Given the description of an element on the screen output the (x, y) to click on. 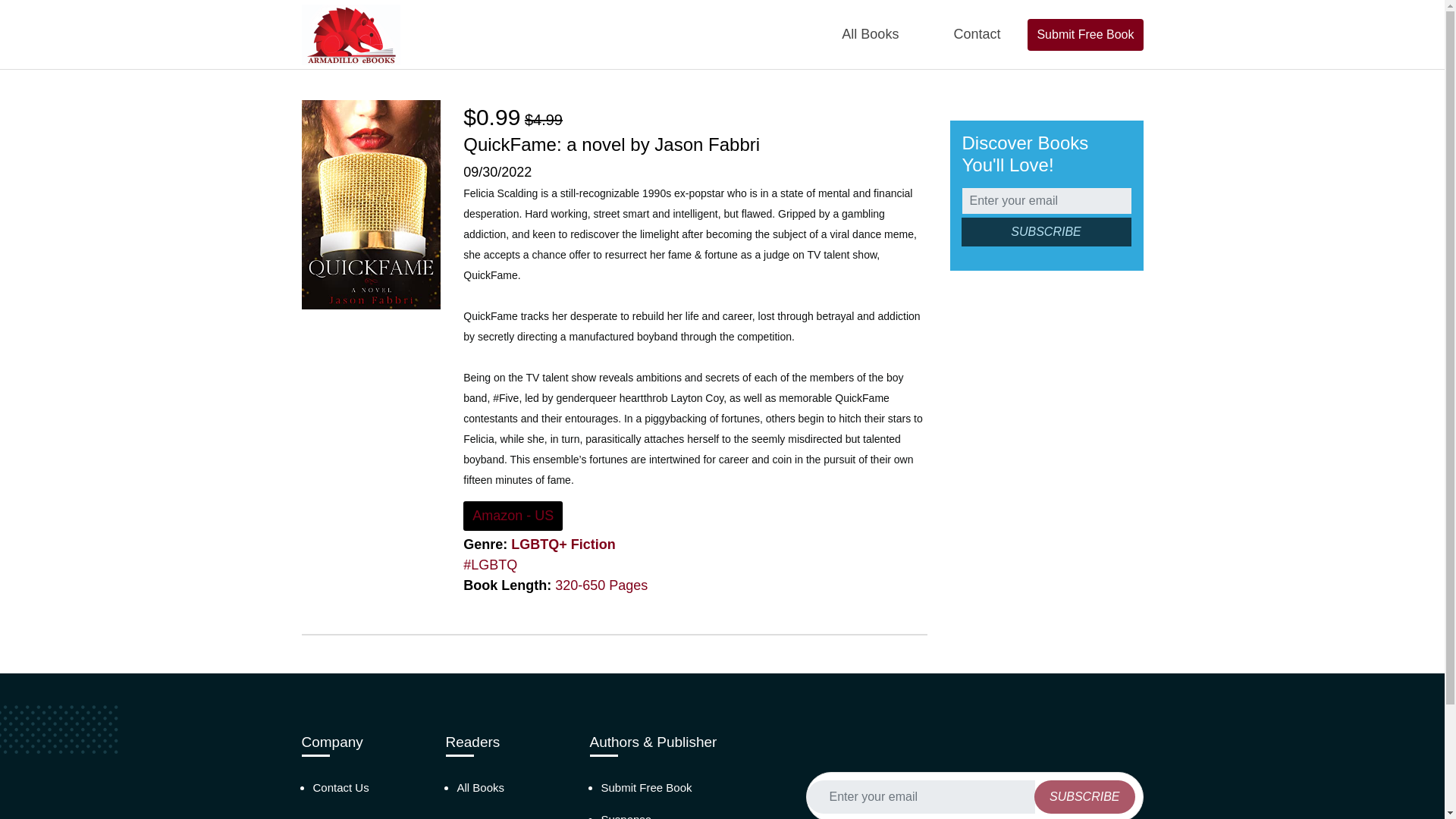
Contact Us (340, 787)
Amazon - US (512, 515)
All Books (480, 787)
Subscribe (1083, 797)
Subscribe (1083, 797)
Submit Free Book (645, 787)
Submit Free Book (1084, 33)
Subscribe (1045, 231)
All Books (870, 34)
320-650 Pages (600, 585)
